Given the description of an element on the screen output the (x, y) to click on. 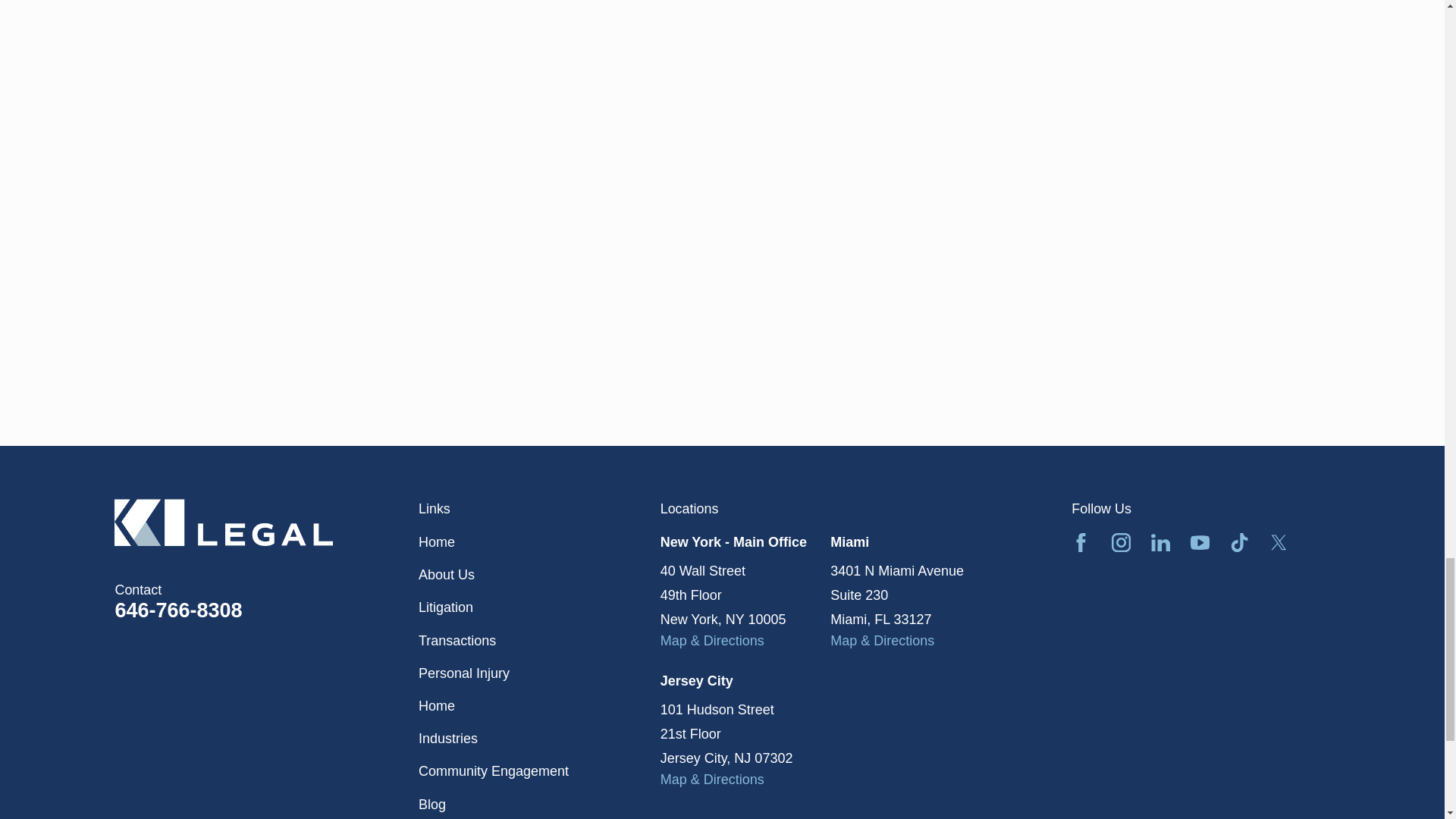
KI Legal (224, 522)
Home (267, 522)
Instagram (1121, 542)
Facebook (1080, 542)
